Given the description of an element on the screen output the (x, y) to click on. 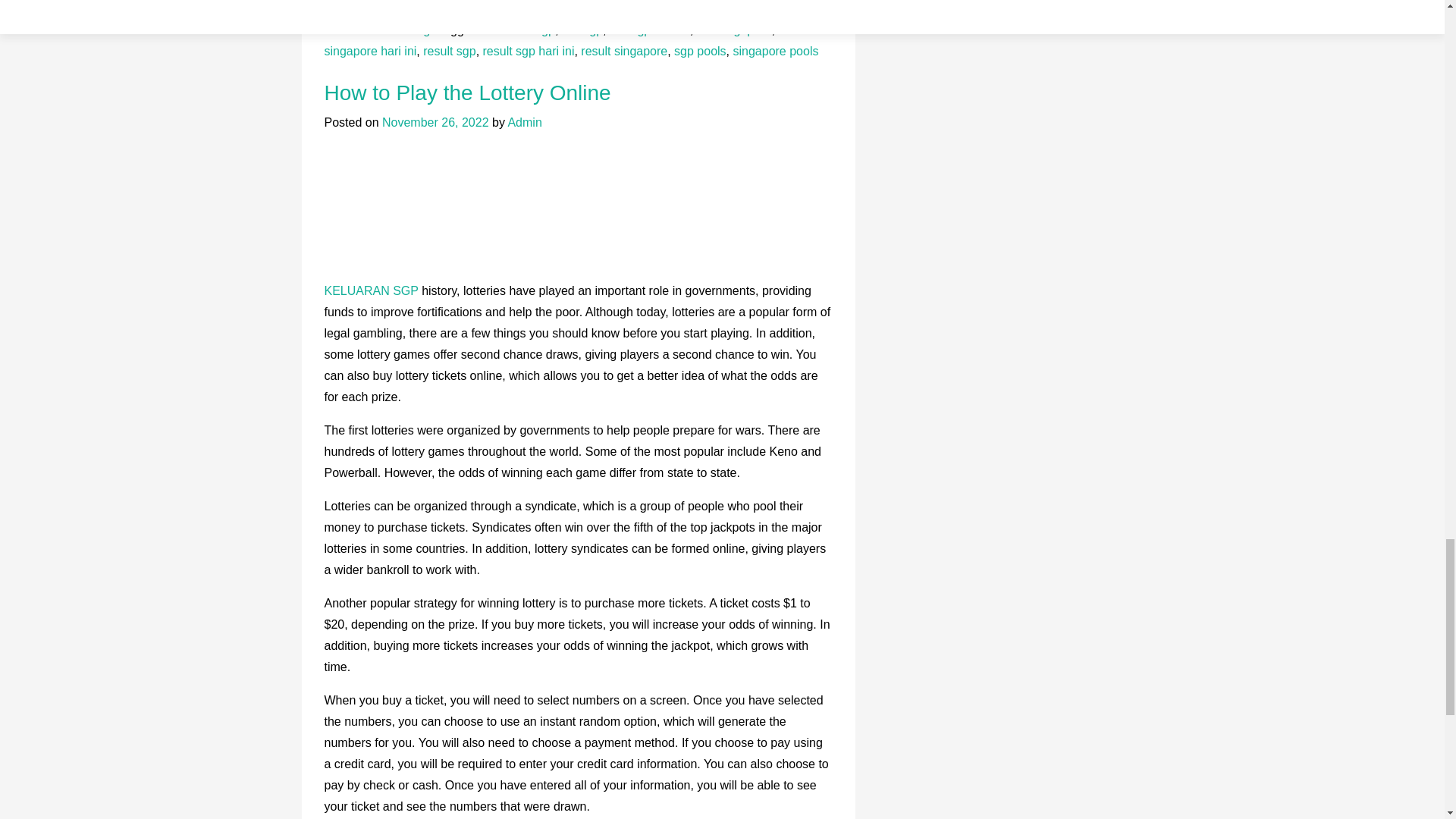
Gambling (403, 29)
How to Play the Lottery Online (467, 92)
live singapore hari ini (560, 40)
result sgp (449, 51)
result sgp hari ini (529, 51)
live sgp (582, 29)
KELUARAN SGP (371, 290)
live sgp hari ini (650, 29)
live result sgp (517, 29)
Admin (523, 122)
singapore pools (775, 51)
sgp pools (700, 51)
live singapore (734, 29)
November 26, 2022 (435, 122)
result singapore (623, 51)
